Given the description of an element on the screen output the (x, y) to click on. 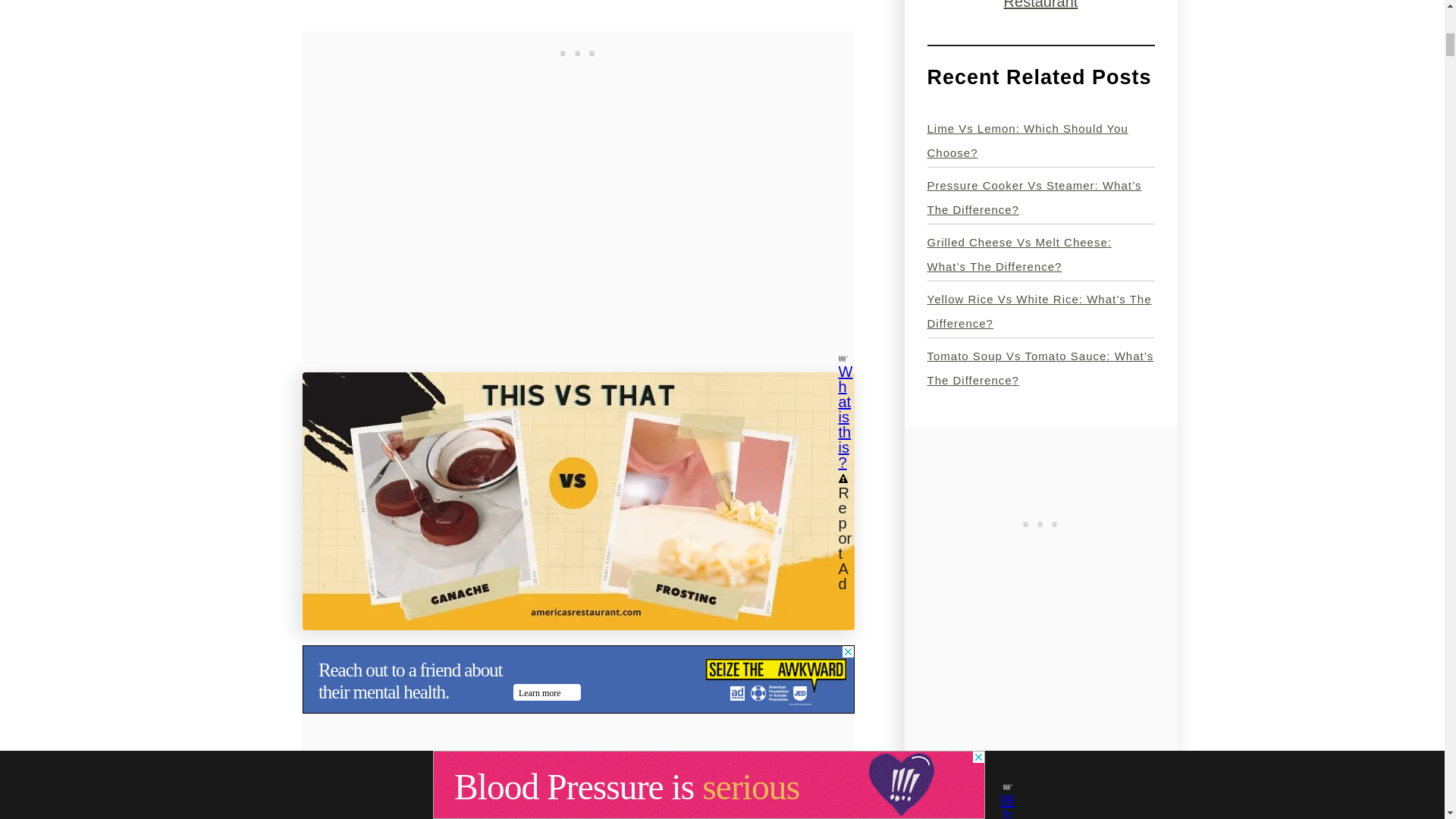
3rd party ad content (577, 679)
Lime vs Lemon: Which Should You Choose? (1026, 140)
3rd party ad content (1040, 520)
3rd party ad content (577, 49)
